Given the description of an element on the screen output the (x, y) to click on. 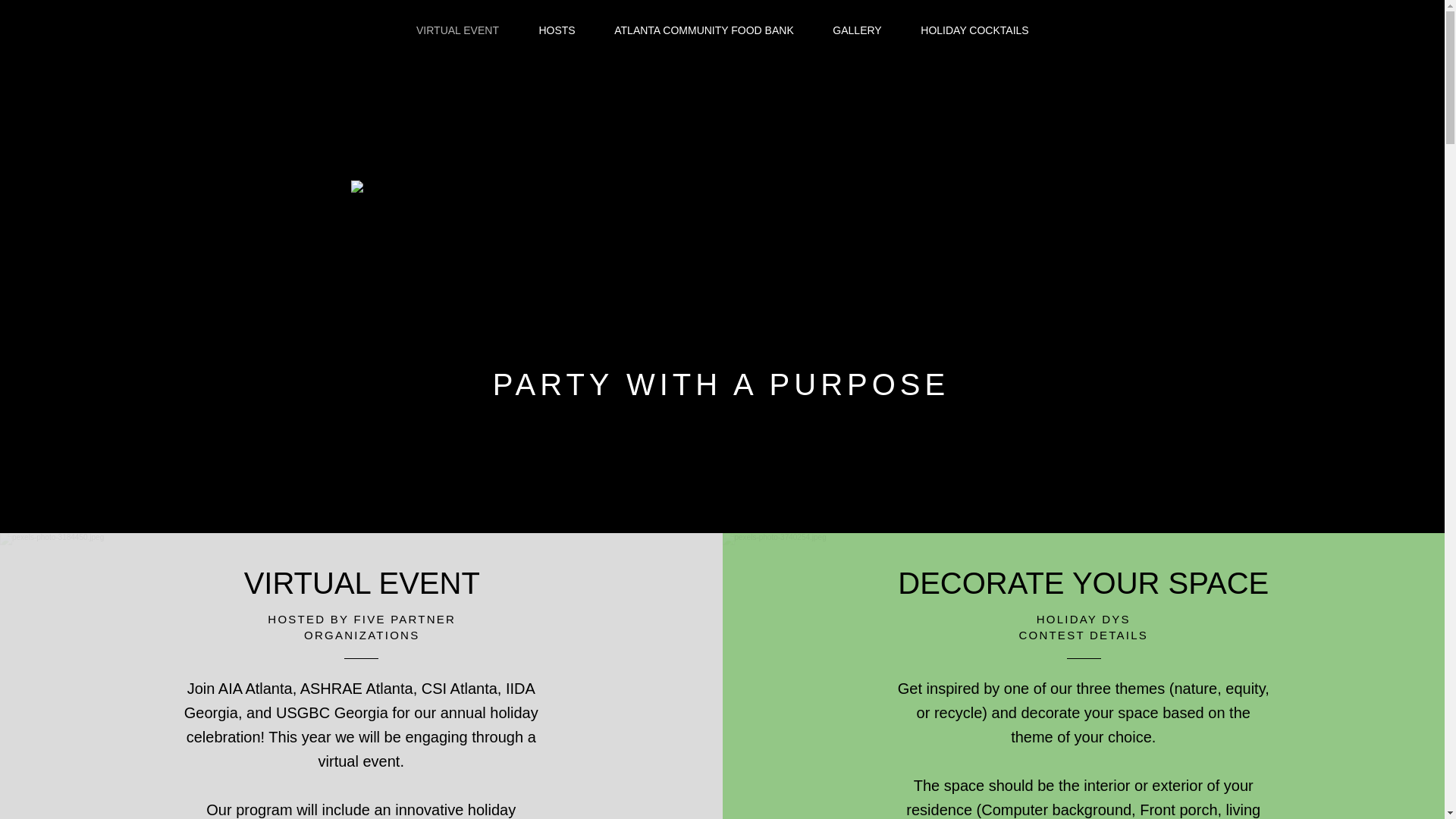
ATLANTA COMMUNITY FOOD BANK (703, 30)
VIRTUAL EVENT (457, 30)
HOLIDAY COCKTAILS (974, 30)
GALLERY (856, 30)
HOSTS (556, 30)
